Given the description of an element on the screen output the (x, y) to click on. 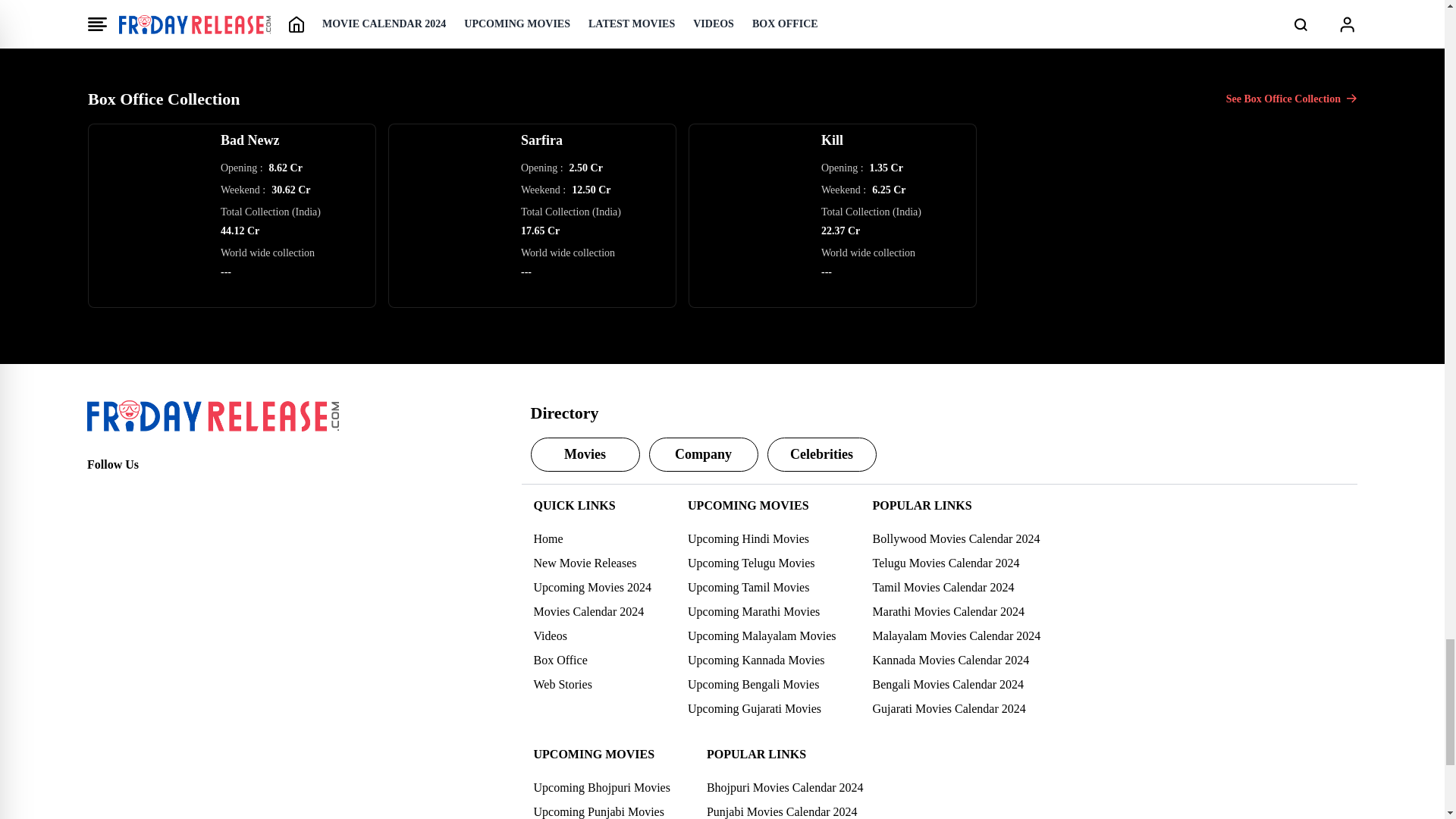
Facebook Page (99, 491)
Youtube Page (199, 491)
Twitter Page (132, 491)
Instagram Page (165, 491)
